Given the description of an element on the screen output the (x, y) to click on. 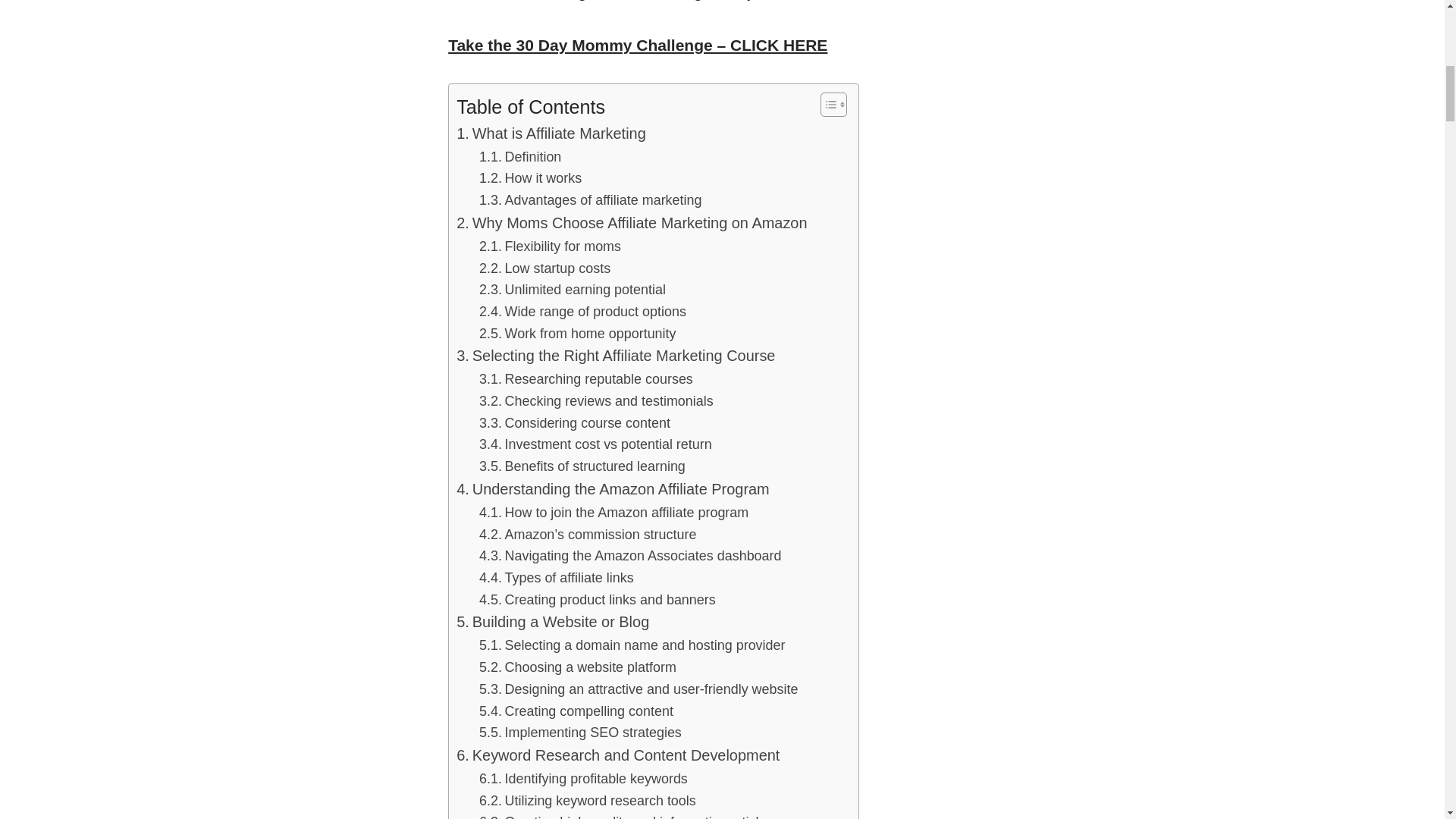
Implementing SEO strategies (580, 732)
Researching reputable courses (586, 379)
Low startup costs (544, 268)
Checking reviews and testimonials (596, 401)
Investment cost vs potential return (595, 444)
Wide range of product options (582, 311)
Checking reviews and testimonials (596, 401)
What is Affiliate Marketing (551, 134)
Benefits of structured learning (582, 466)
Why Moms Choose Affiliate Marketing on Amazon (631, 223)
Work from home opportunity (577, 333)
Flexibility for moms (550, 246)
Work from home opportunity (577, 333)
Types of affiliate links (556, 577)
